Given the description of an element on the screen output the (x, y) to click on. 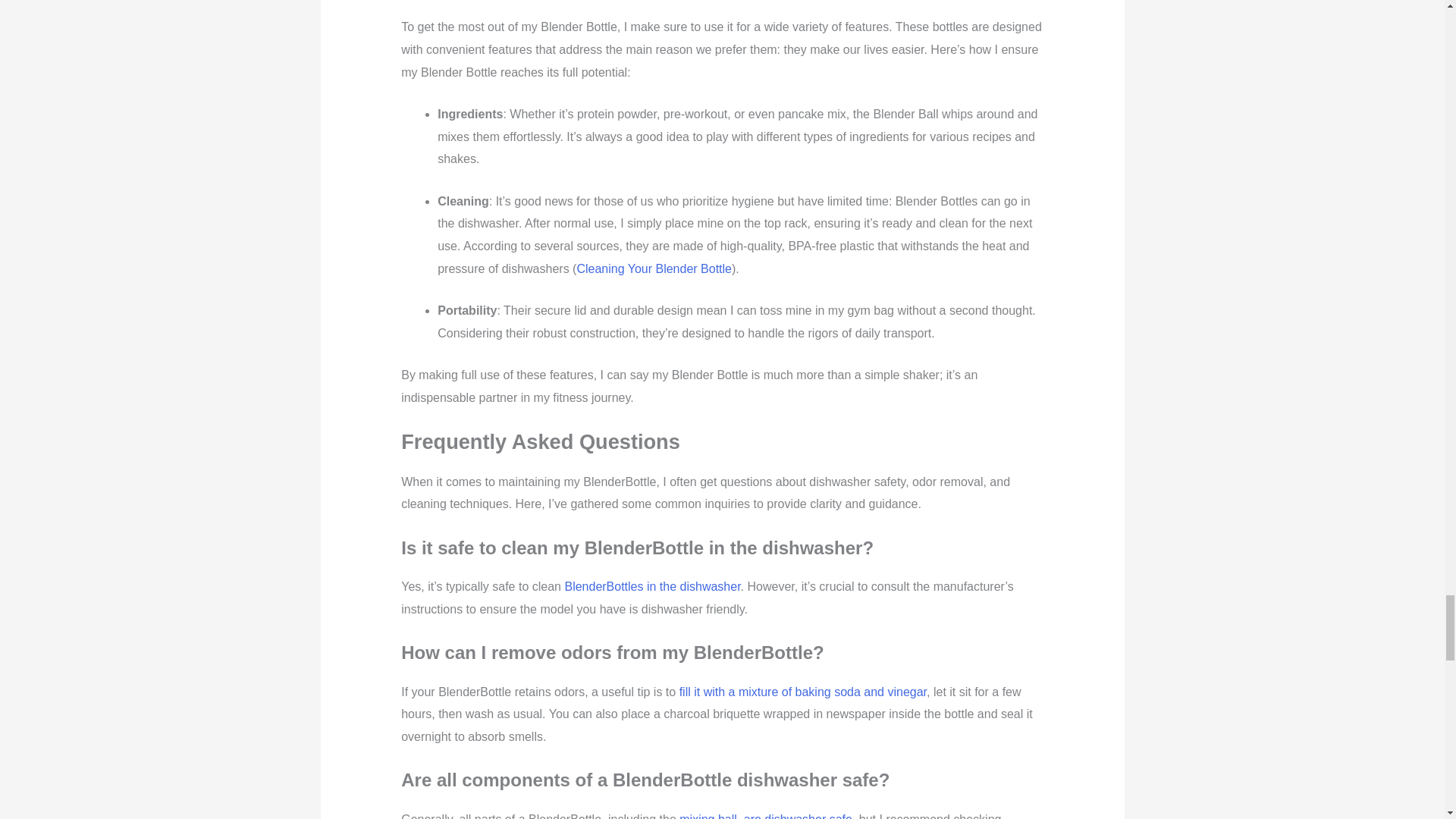
fill it with a mixture of baking soda and vinegar (802, 691)
Cleaning Your Blender Bottle (654, 268)
mixing ball, are dishwasher safe (765, 816)
BlenderBottles in the dishwasher (651, 585)
